Given the description of an element on the screen output the (x, y) to click on. 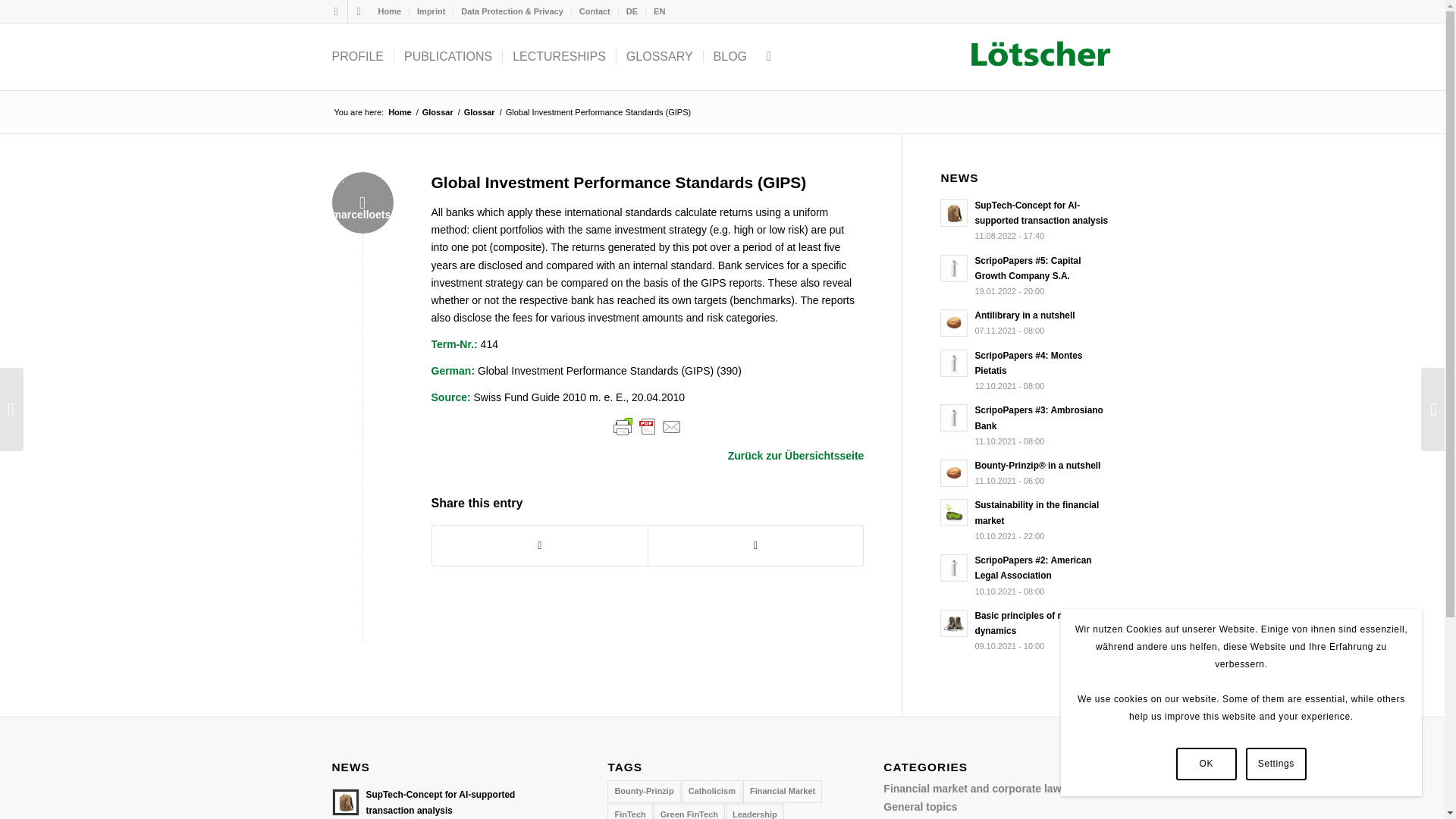
logo-v3-1 (1040, 53)
Home (389, 11)
LECTURESHIPS (558, 56)
LinkedIn (335, 11)
Glossar (437, 112)
Contact (594, 11)
Antilibrary in a nutshell (1026, 322)
SupTech-Concept for AI-supported transaction analysis (1026, 220)
PUBLICATIONS (447, 56)
